Given the description of an element on the screen output the (x, y) to click on. 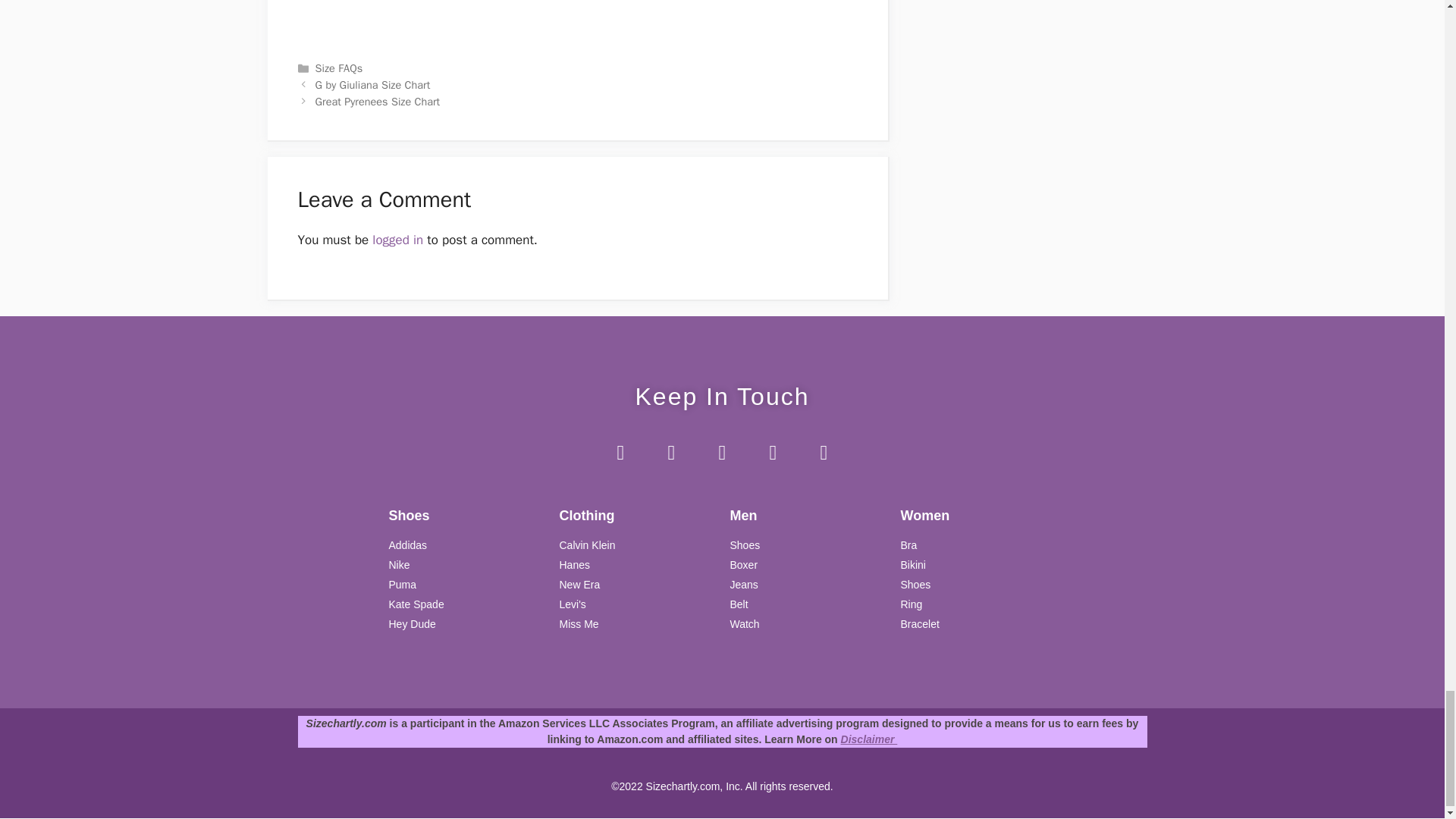
Size FAQs (338, 68)
Disclaimer  (869, 739)
Shoes (979, 584)
Hey Dude (465, 624)
Calvin Klein (636, 545)
New Era (636, 584)
Hanes (636, 565)
logged in (397, 239)
Kate Spade (465, 604)
Great Pyrenees Size Chart (378, 101)
Jeans (807, 584)
G by Giuliana Size Chart (372, 84)
Miss Me (636, 624)
Levi's (636, 604)
Nike (465, 565)
